Given the description of an element on the screen output the (x, y) to click on. 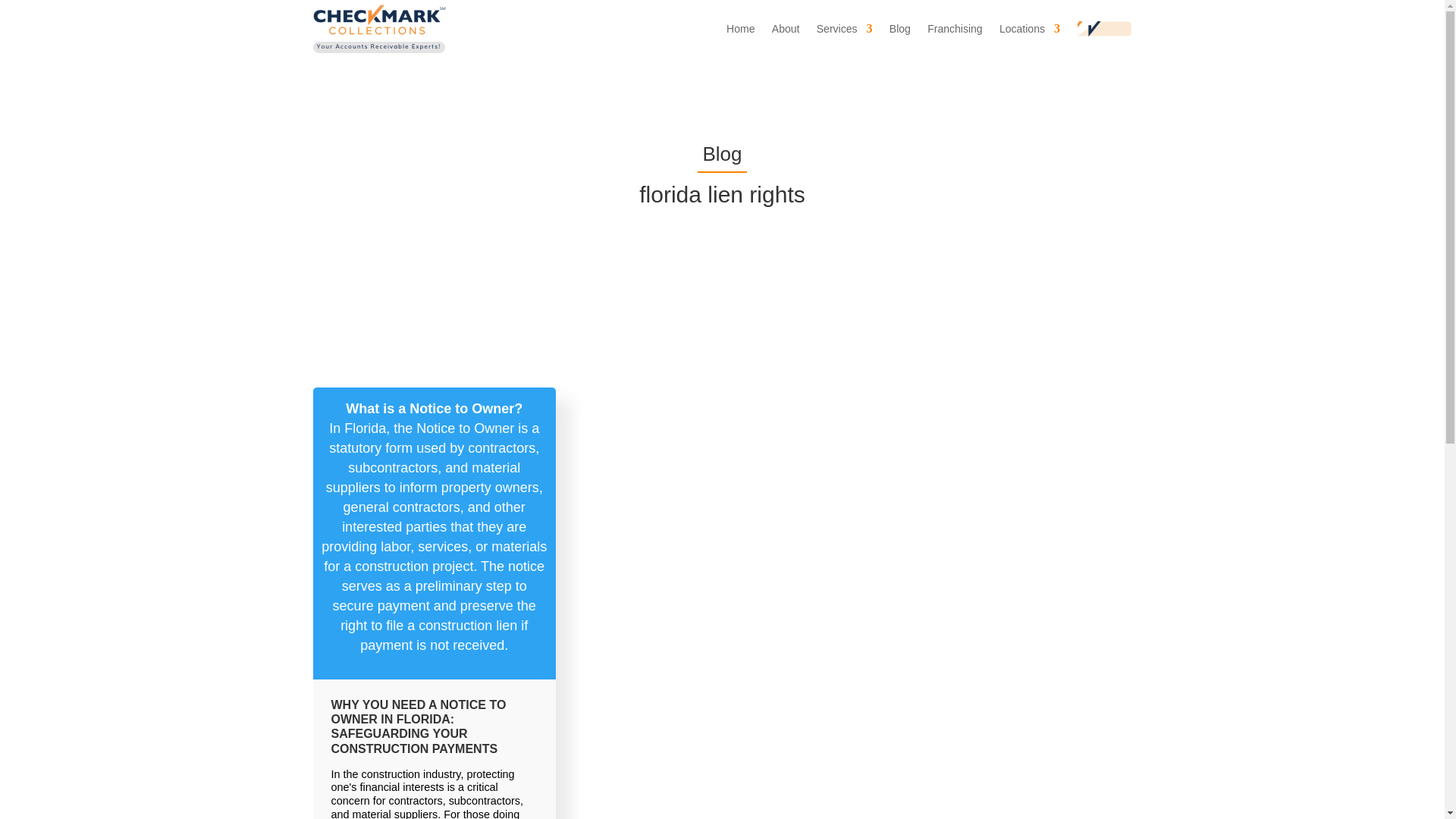
Services (844, 28)
Franchising (954, 28)
Locations (1028, 28)
Read more (433, 525)
